Given the description of an element on the screen output the (x, y) to click on. 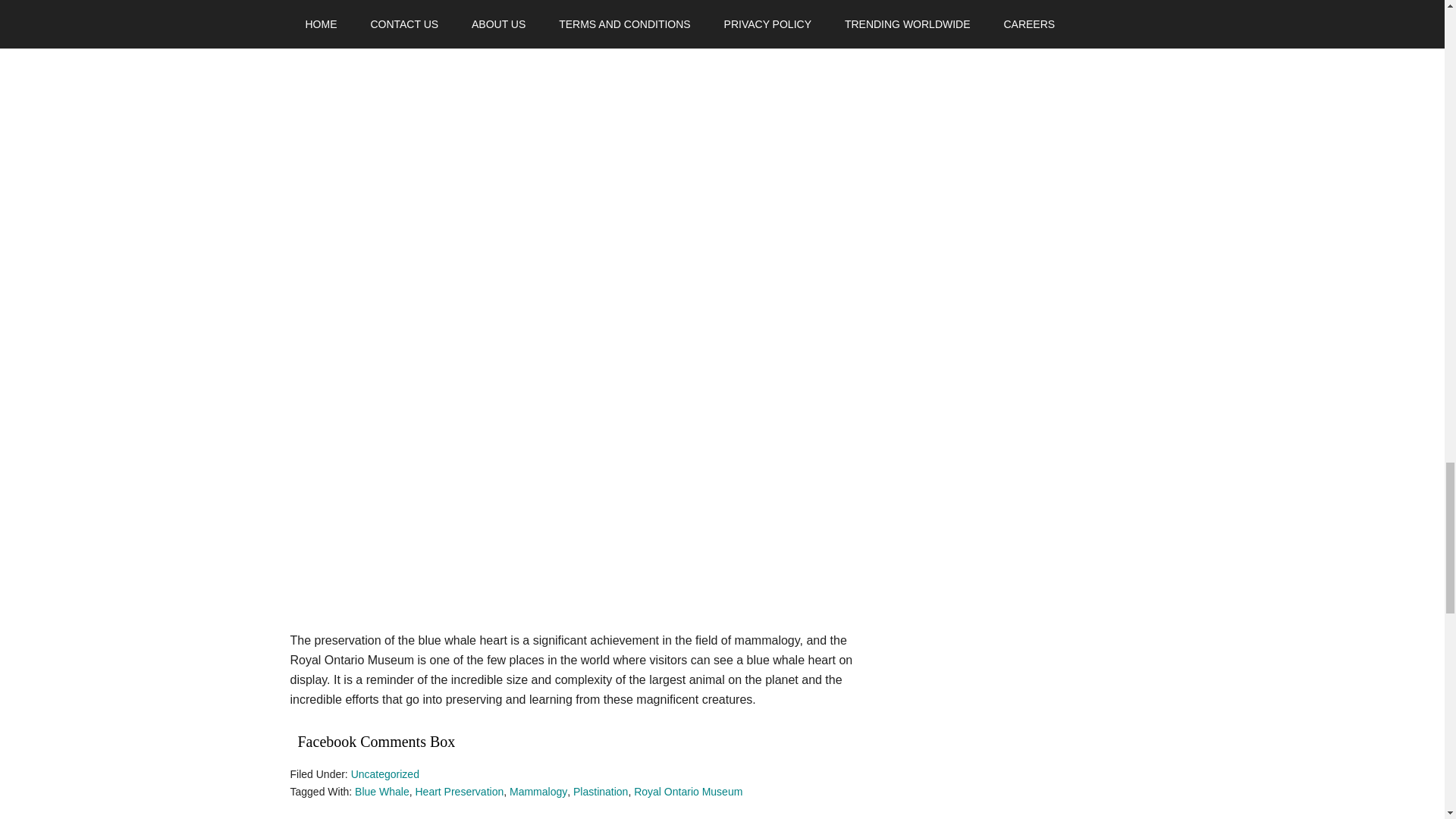
Heart Preservation (458, 791)
Uncategorized (384, 774)
Blue Whale (382, 791)
Plastination (600, 791)
Royal Ontario Museum (687, 791)
Mammalogy (538, 791)
